Given the description of an element on the screen output the (x, y) to click on. 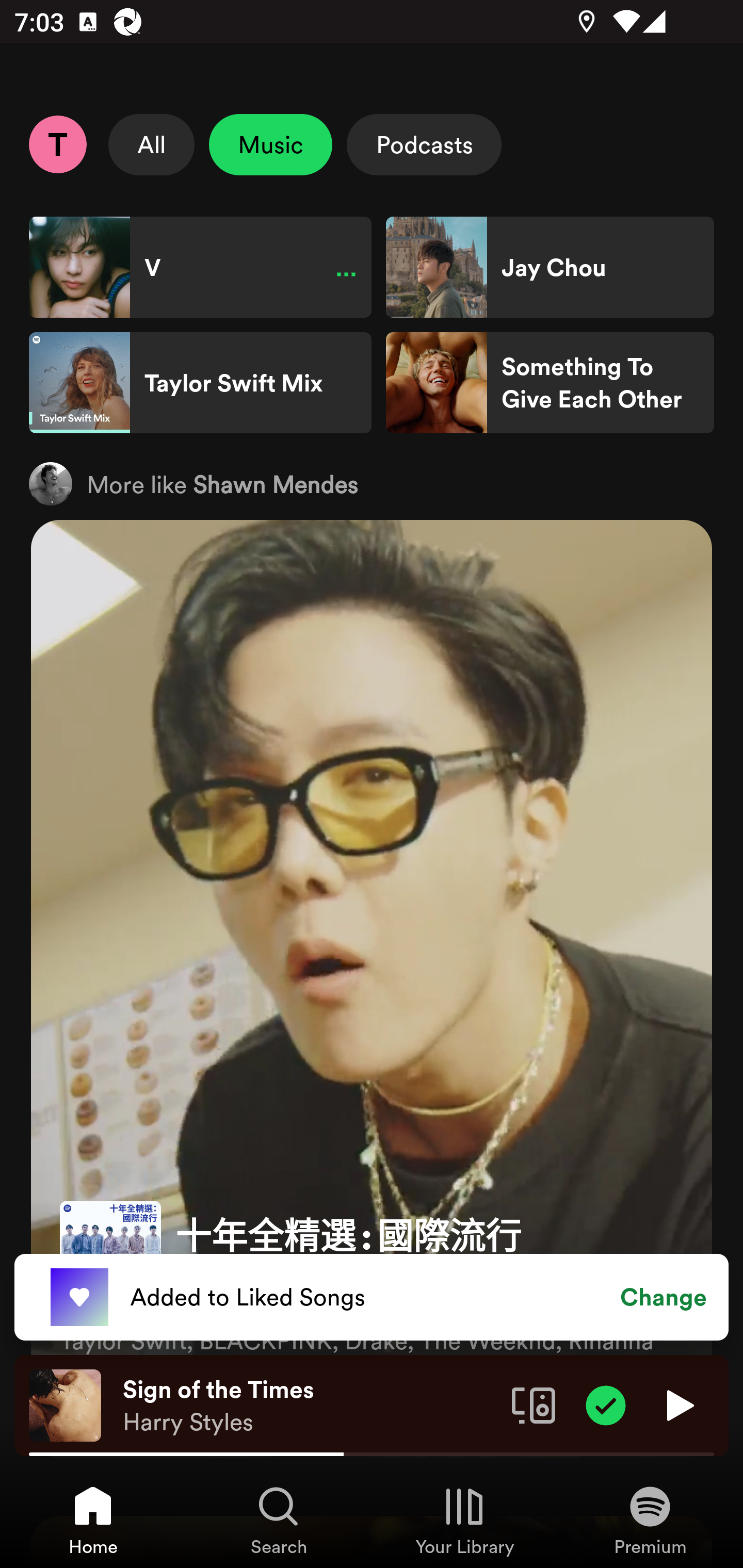
Profile (57, 144)
All Select All (151, 144)
Music Unselect Music (270, 144)
Podcasts Select Podcasts (423, 144)
V Shortcut V Paused (199, 267)
Jay Chou Shortcut Jay Chou (549, 267)
Taylor Swift Mix Shortcut Taylor Swift Mix (199, 382)
More like Shawn Mendes (371, 483)
Added to Liked Songs (79, 1297)
Added to Liked Songs (371, 1297)
Change (663, 1297)
Sign of the Times Harry Styles (309, 1405)
The cover art of the currently playing track (64, 1404)
Connect to a device. Opens the devices menu (533, 1404)
Item added (605, 1404)
Play (677, 1404)
Home, Tab 1 of 4 Home Home (92, 1519)
Search, Tab 2 of 4 Search Search (278, 1519)
Your Library, Tab 3 of 4 Your Library Your Library (464, 1519)
Premium, Tab 4 of 4 Premium Premium (650, 1519)
